Given the description of an element on the screen output the (x, y) to click on. 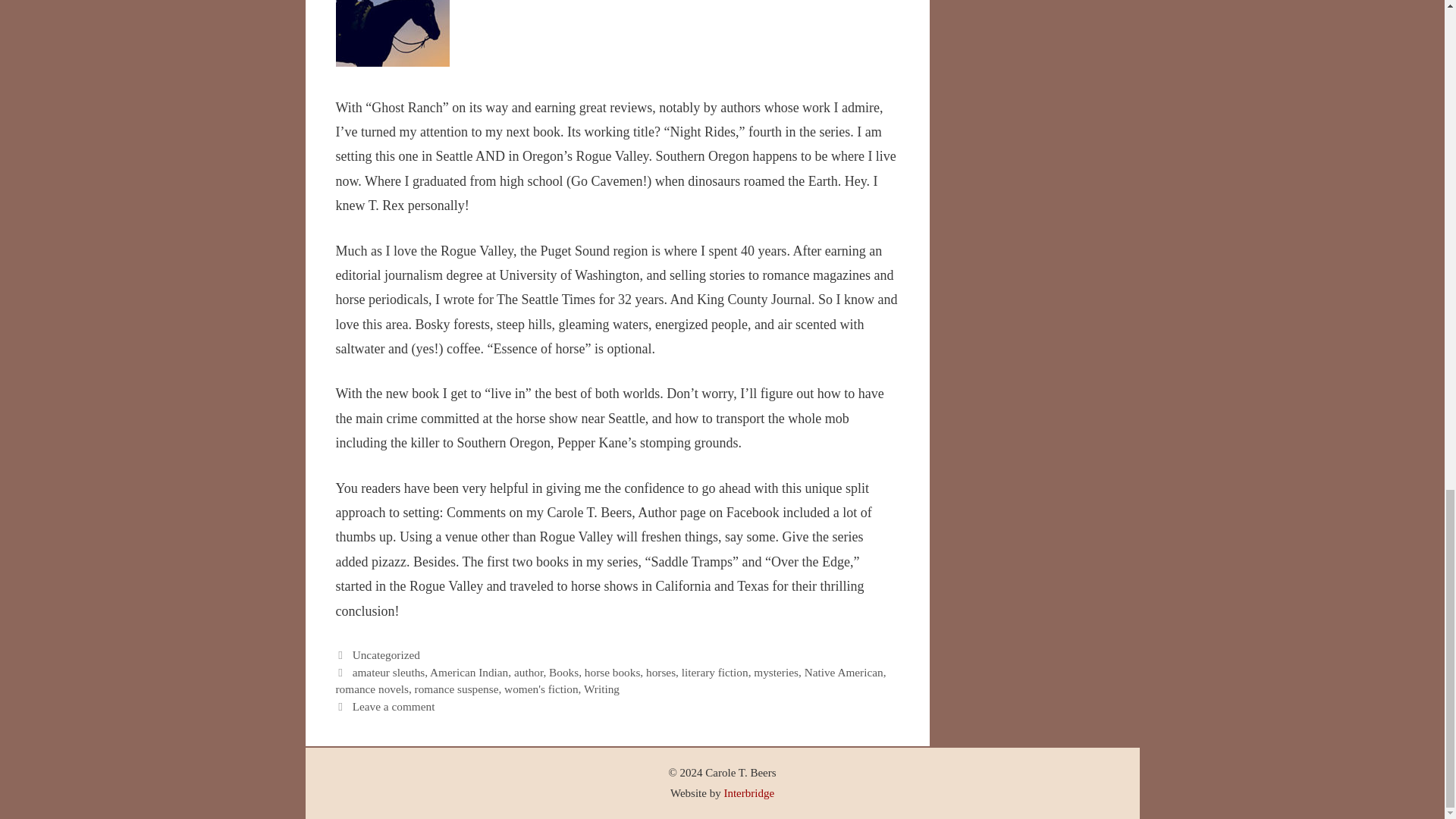
American Indian (468, 671)
literary fiction (714, 671)
Leave a comment (393, 706)
horses (660, 671)
Uncategorized (386, 654)
amateur sleuths (388, 671)
horse books (612, 671)
Writing (601, 688)
women's fiction (540, 688)
mysteries (775, 671)
